Given the description of an element on the screen output the (x, y) to click on. 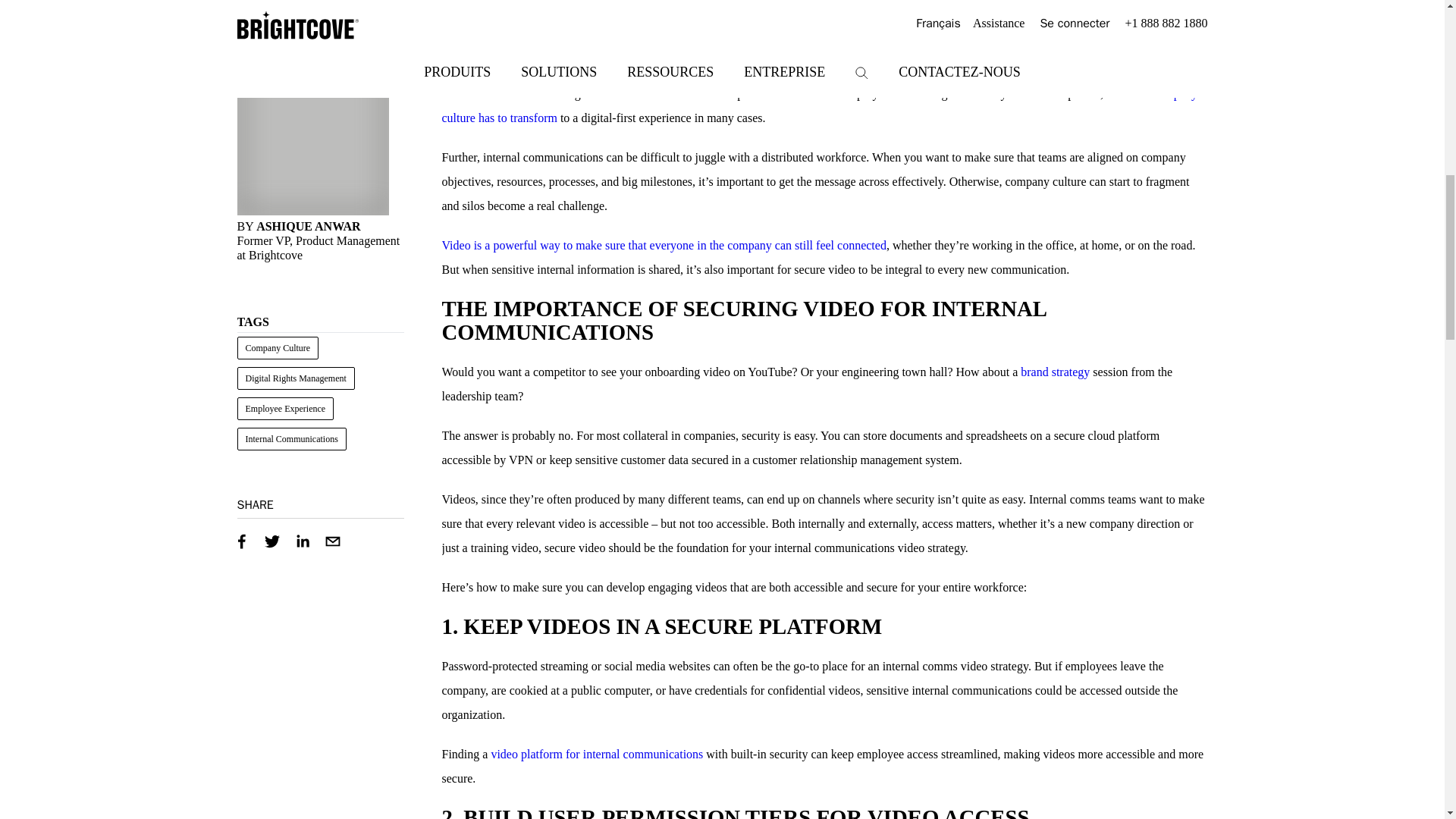
internal communications strategy (573, 69)
Using Video Analytics to Improve the Employee Experience (818, 105)
Why is Internal Communications Important for Your Business? (573, 69)
company culture has to transform (818, 105)
Statistics On Remote Workers That Will Surprise You (1059, 6)
brand strategy (1054, 371)
4 Ways Video Solves the Challenges of Hybrid Workplaces (663, 245)
Brightcove's Corporate Video Platform (596, 753)
video platform for internal communications (596, 753)
How to Build a Strong Employer Brand with Video Streaming (1054, 371)
One survey (1059, 6)
